Given the description of an element on the screen output the (x, y) to click on. 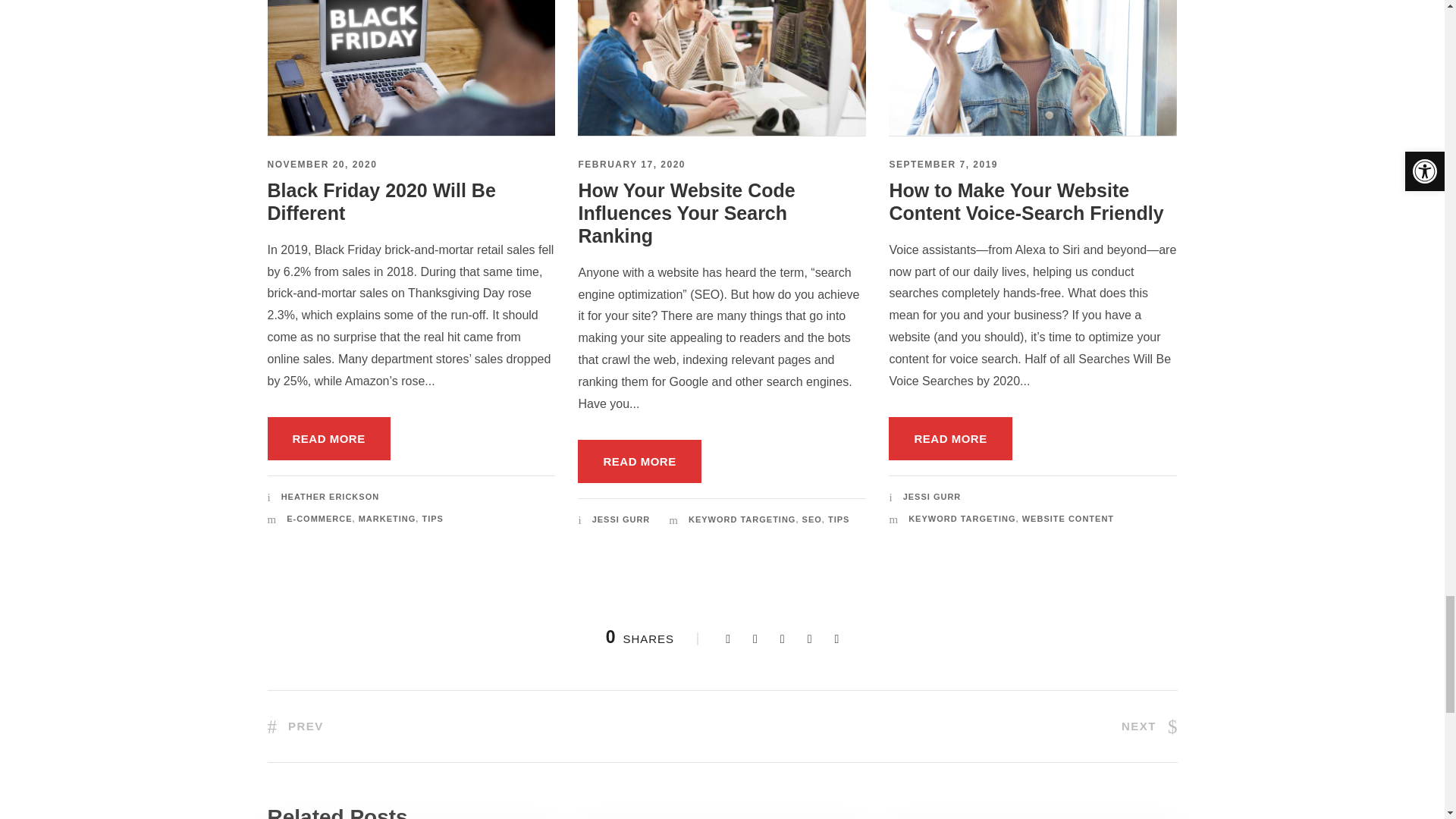
Posts by Heather Erickson (329, 496)
Posts by Jessi Gurr (621, 519)
Recording Voice Message In Elevator Kf53gah (1032, 68)
Hipster Programming Team Analyzing Code Of Uhlyq9t (722, 68)
